Given the description of an element on the screen output the (x, y) to click on. 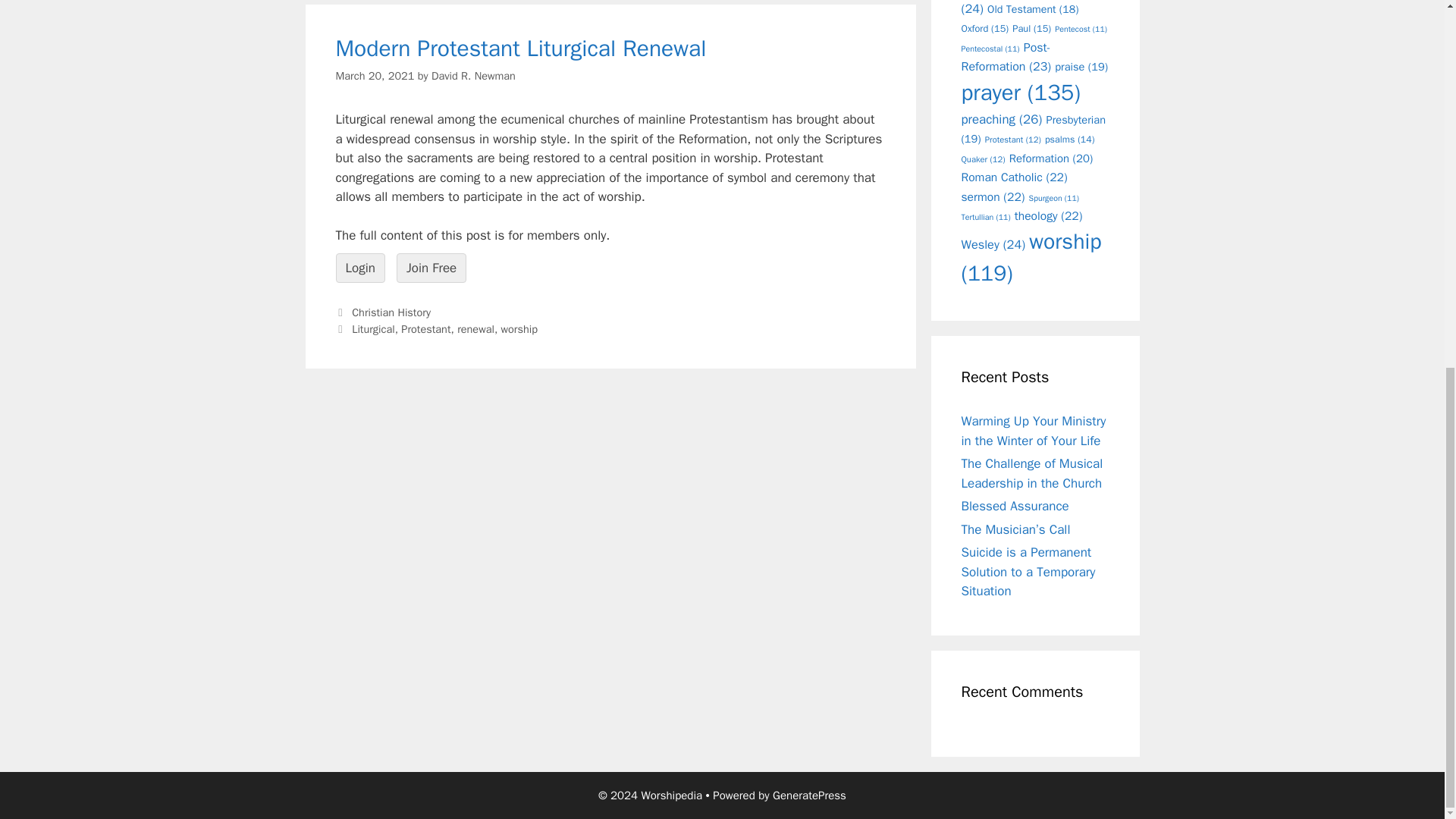
Liturgical (373, 328)
renewal (476, 328)
8:53 am (373, 75)
Login (359, 268)
View all posts by David R. Newman (472, 75)
Protestant (425, 328)
Modern Protestant Liturgical Renewal (520, 48)
worship (518, 328)
Join Free (430, 268)
David R. Newman (472, 75)
